Given the description of an element on the screen output the (x, y) to click on. 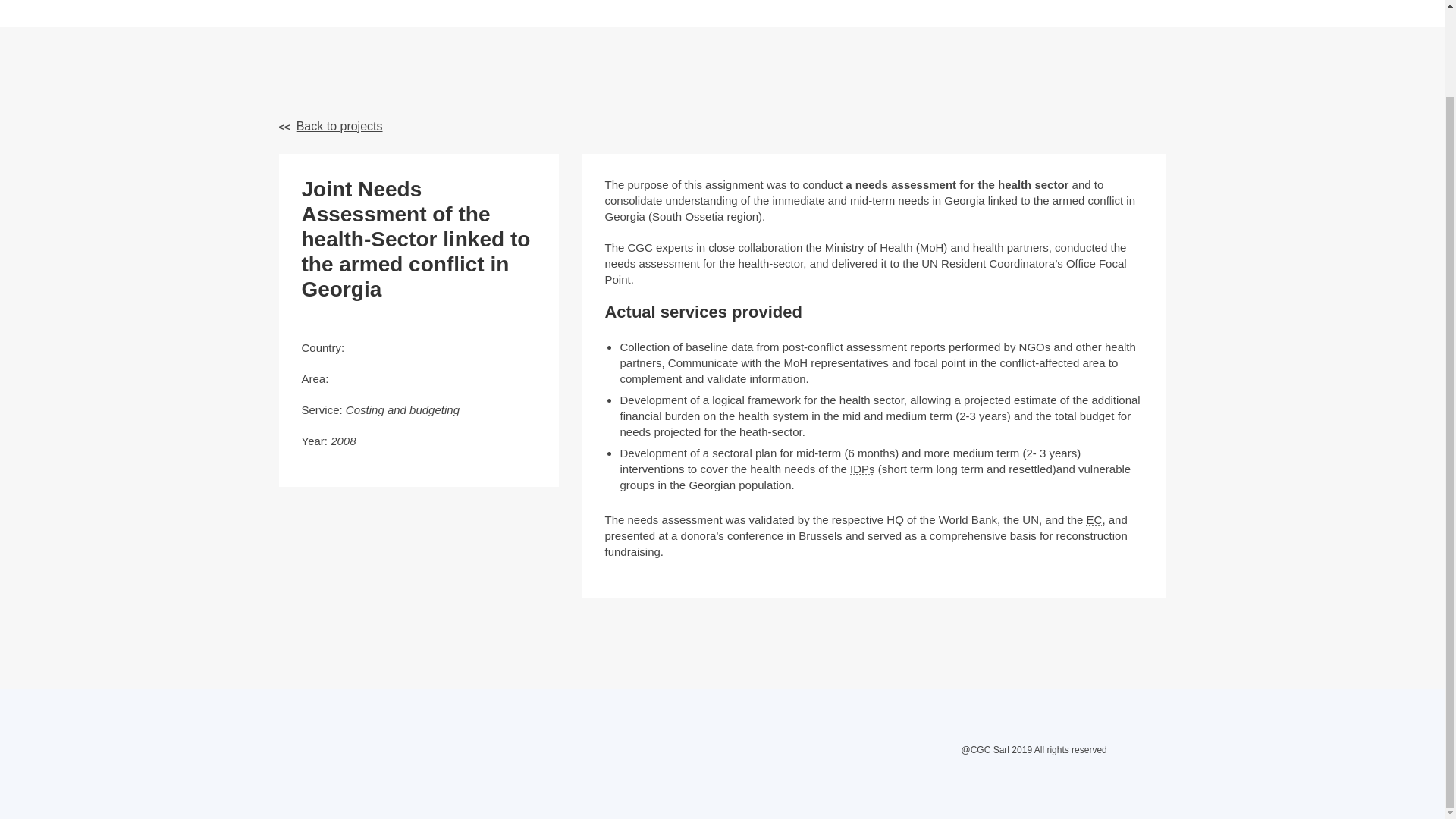
Back to projects (330, 126)
Internally Displaced Person (862, 468)
European Commission (1094, 519)
